Given the description of an element on the screen output the (x, y) to click on. 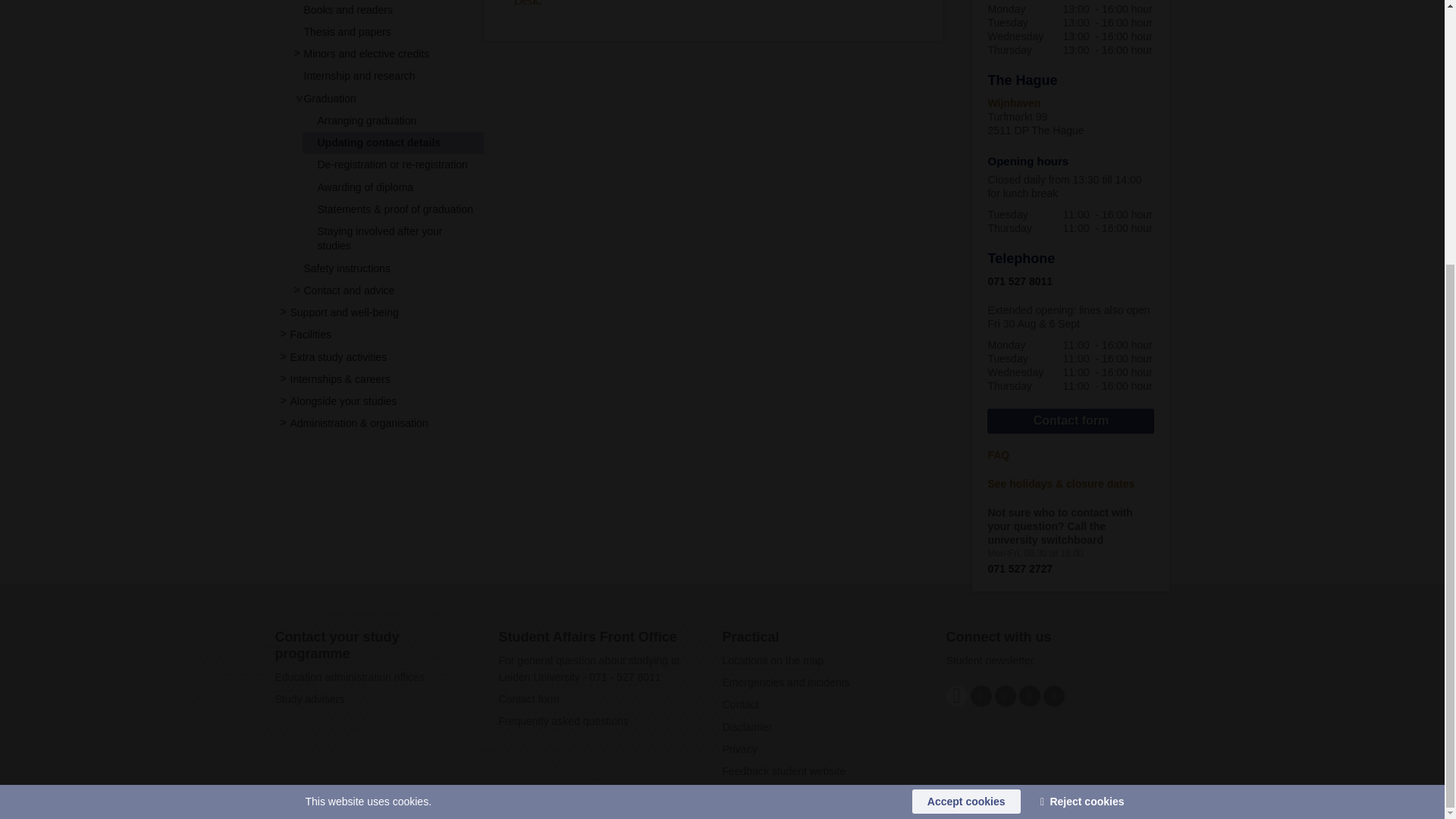
Books and readers (347, 9)
Minors and elective credits (365, 53)
Thesis and papers (346, 31)
